Given the description of an element on the screen output the (x, y) to click on. 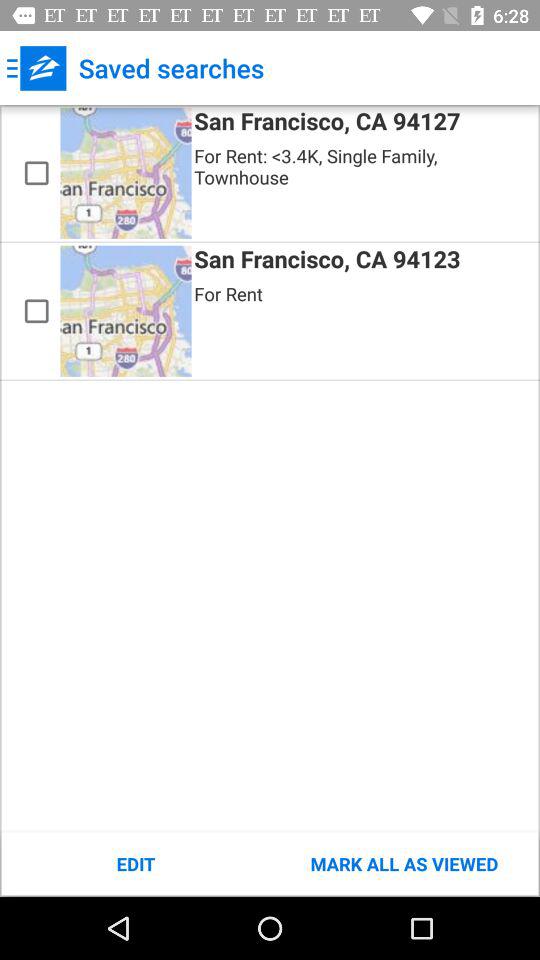
turn off the icon to the left of the mark all as icon (135, 863)
